Given the description of an element on the screen output the (x, y) to click on. 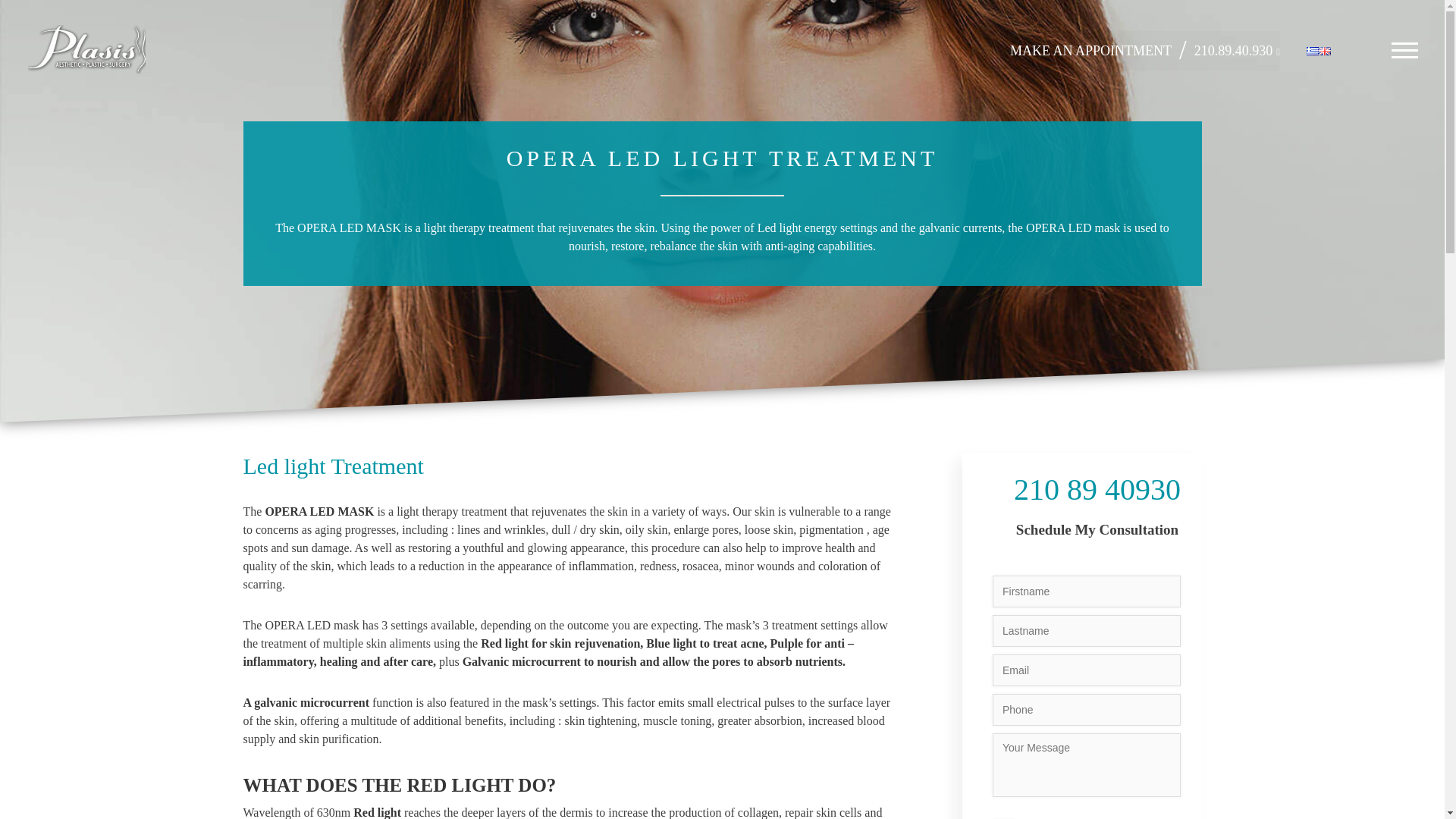
Plasis Plastic Surgery (86, 51)
210.89.40.930 (1232, 50)
MAKE AN APPOINTMENT (1091, 50)
